Given the description of an element on the screen output the (x, y) to click on. 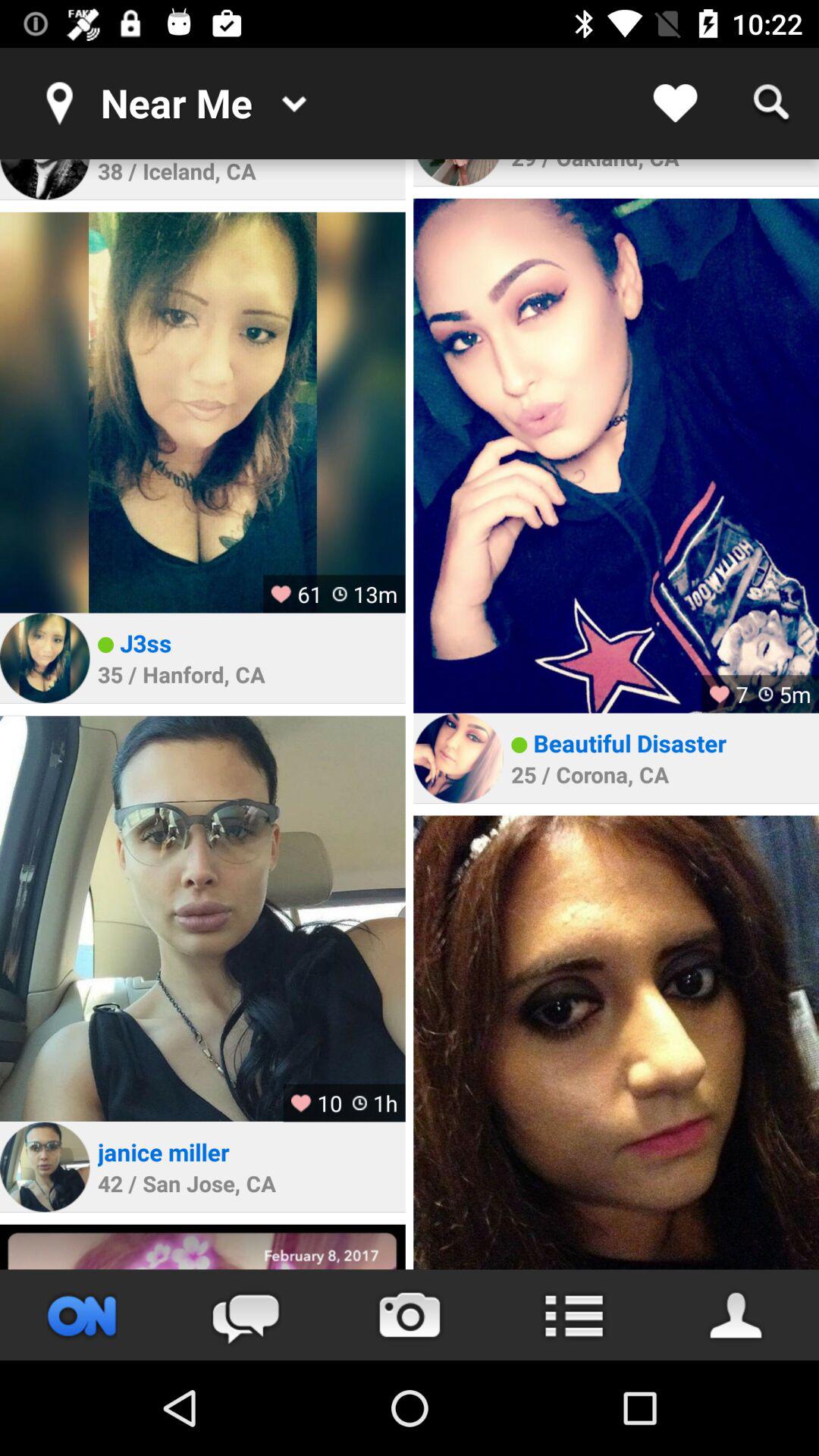
go to profile (44, 179)
